Given the description of an element on the screen output the (x, y) to click on. 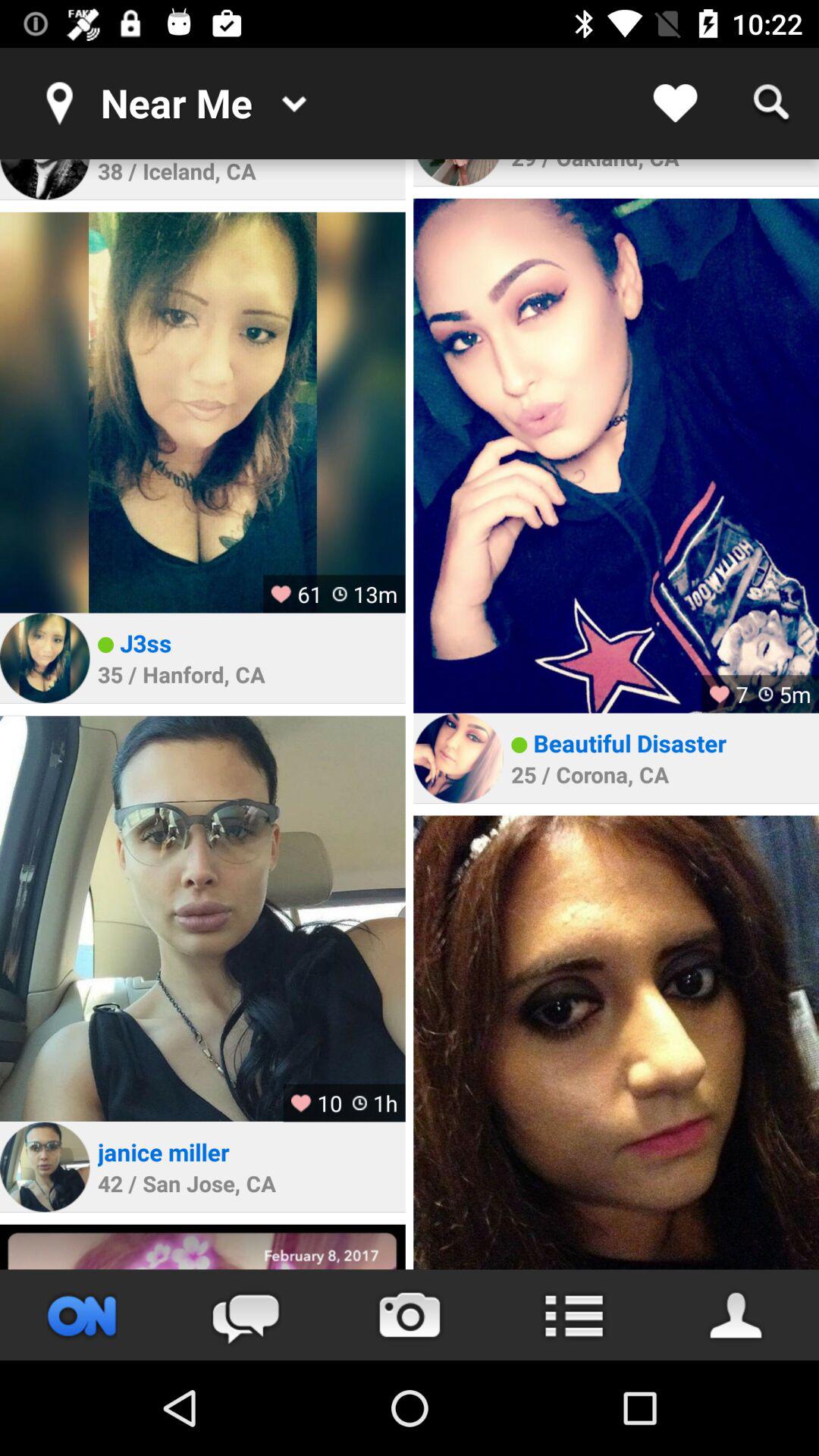
go to profile (44, 179)
